Given the description of an element on the screen output the (x, y) to click on. 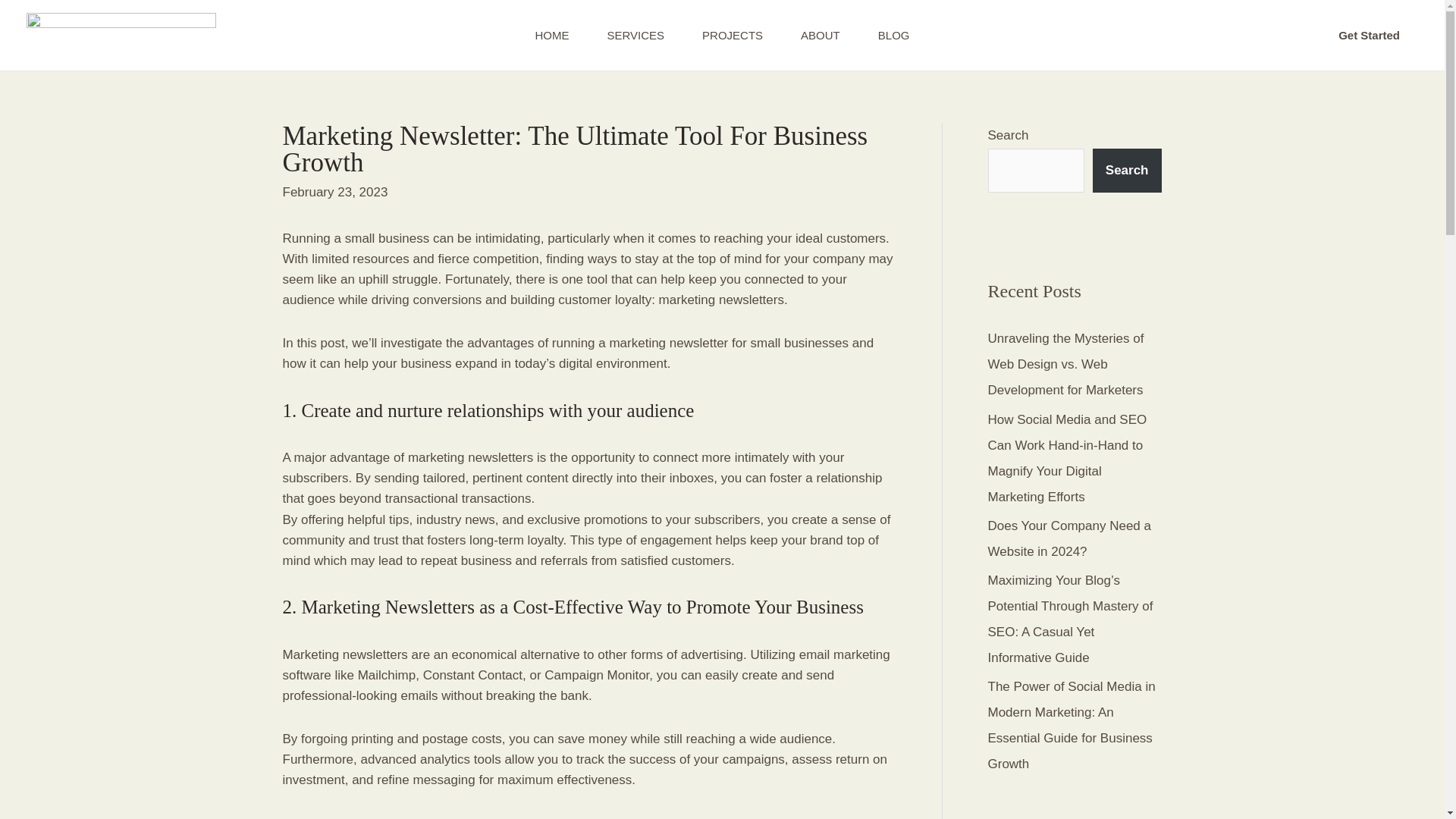
SERVICES (636, 35)
Does Your Company Need a Website in 2024? (1068, 538)
Search (1127, 170)
PROJECTS (731, 35)
Get Started (1369, 34)
Mailchimp (387, 675)
BLOG (893, 35)
HOME (551, 35)
